Given the description of an element on the screen output the (x, y) to click on. 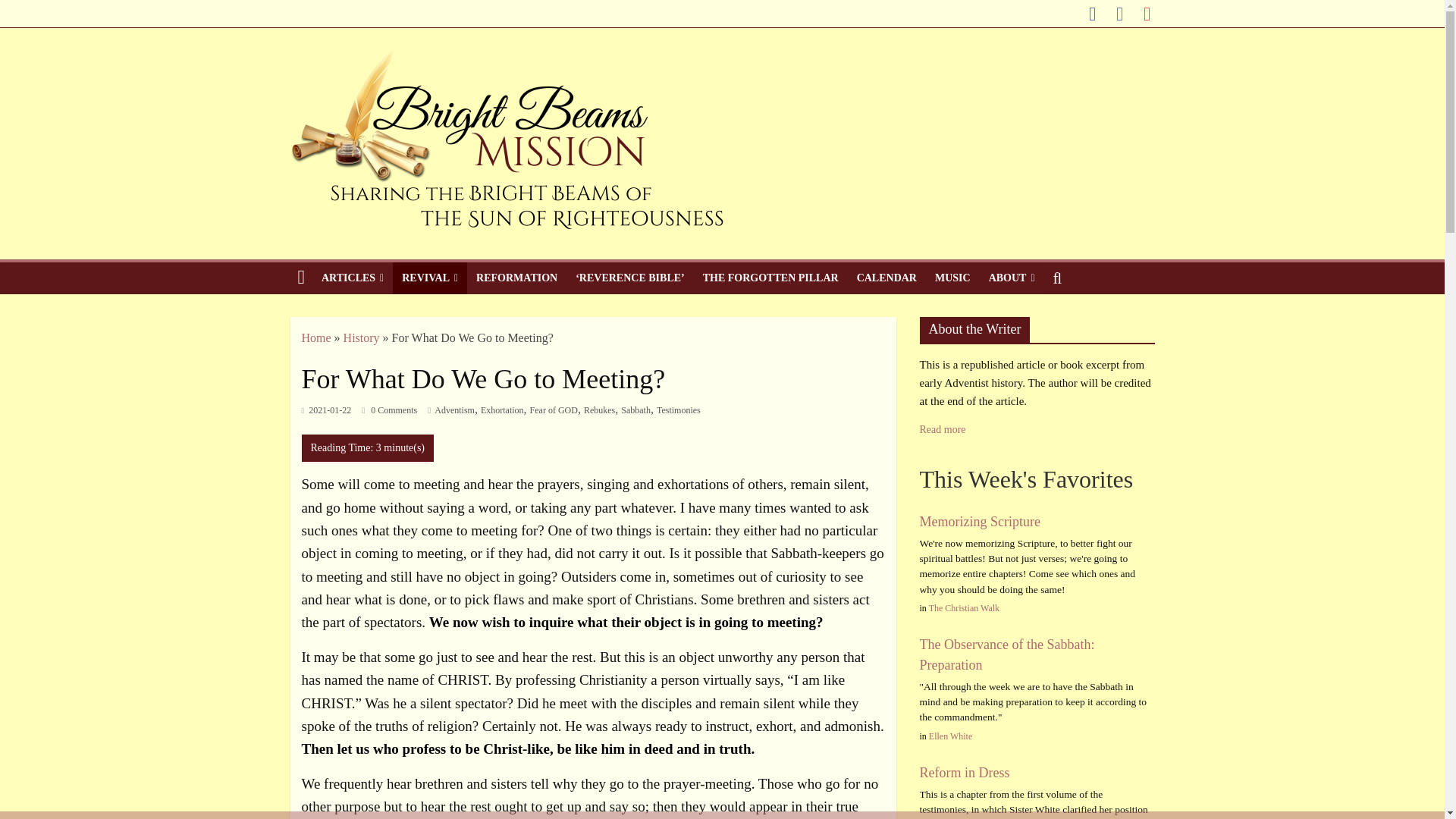
MUSIC (952, 278)
THE FORGOTTEN PILLAR (770, 278)
CALENDAR (886, 278)
ABOUT (1011, 278)
Adventism (453, 409)
12:00 pm (326, 409)
0 Comments (388, 409)
History (361, 337)
Exhortation (502, 409)
Home (316, 337)
